Given the description of an element on the screen output the (x, y) to click on. 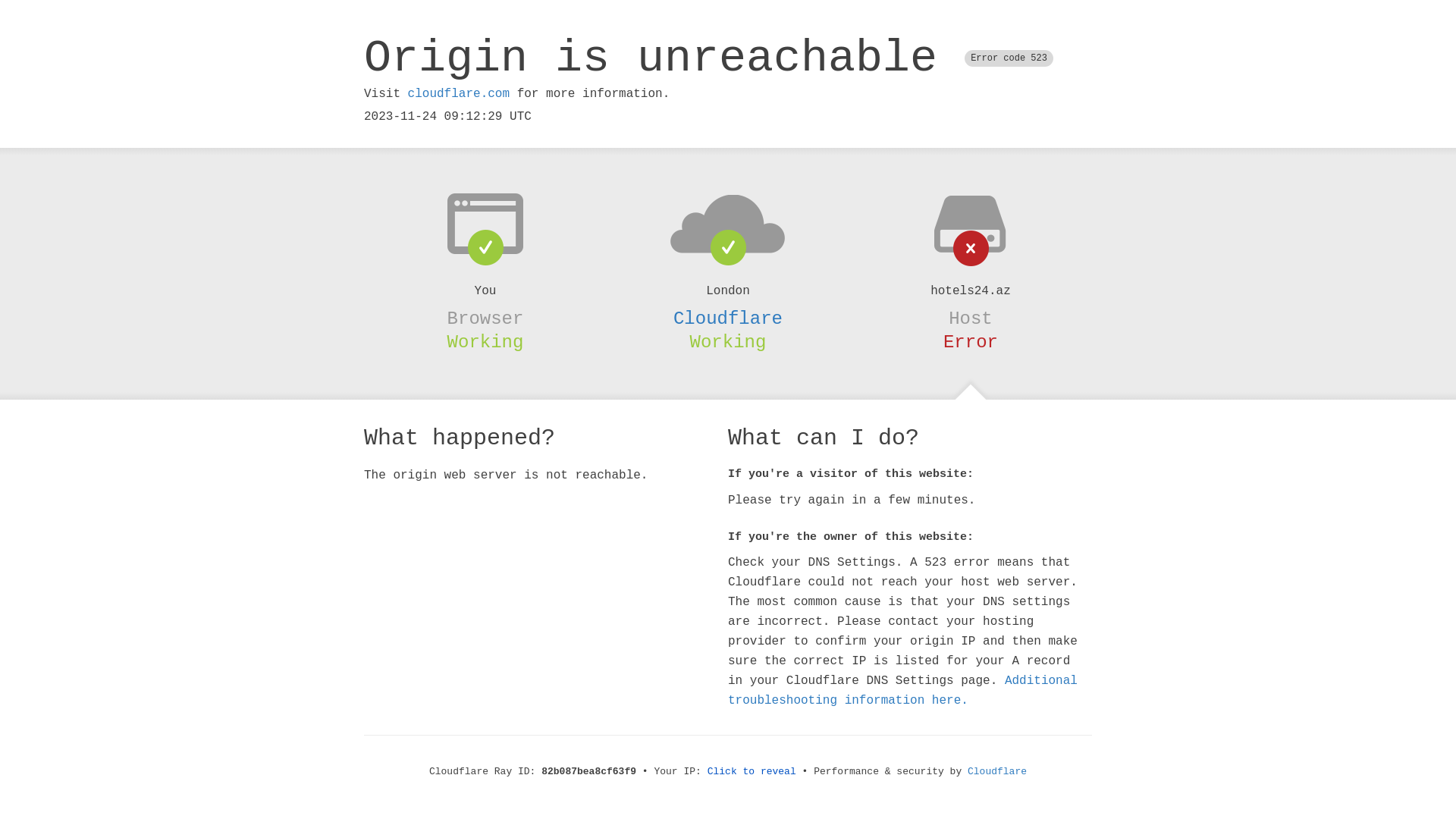
Click to reveal Element type: text (751, 771)
Additional troubleshooting information here. Element type: text (902, 690)
Cloudflare Element type: text (727, 318)
cloudflare.com Element type: text (458, 93)
Cloudflare Element type: text (996, 771)
